Given the description of an element on the screen output the (x, y) to click on. 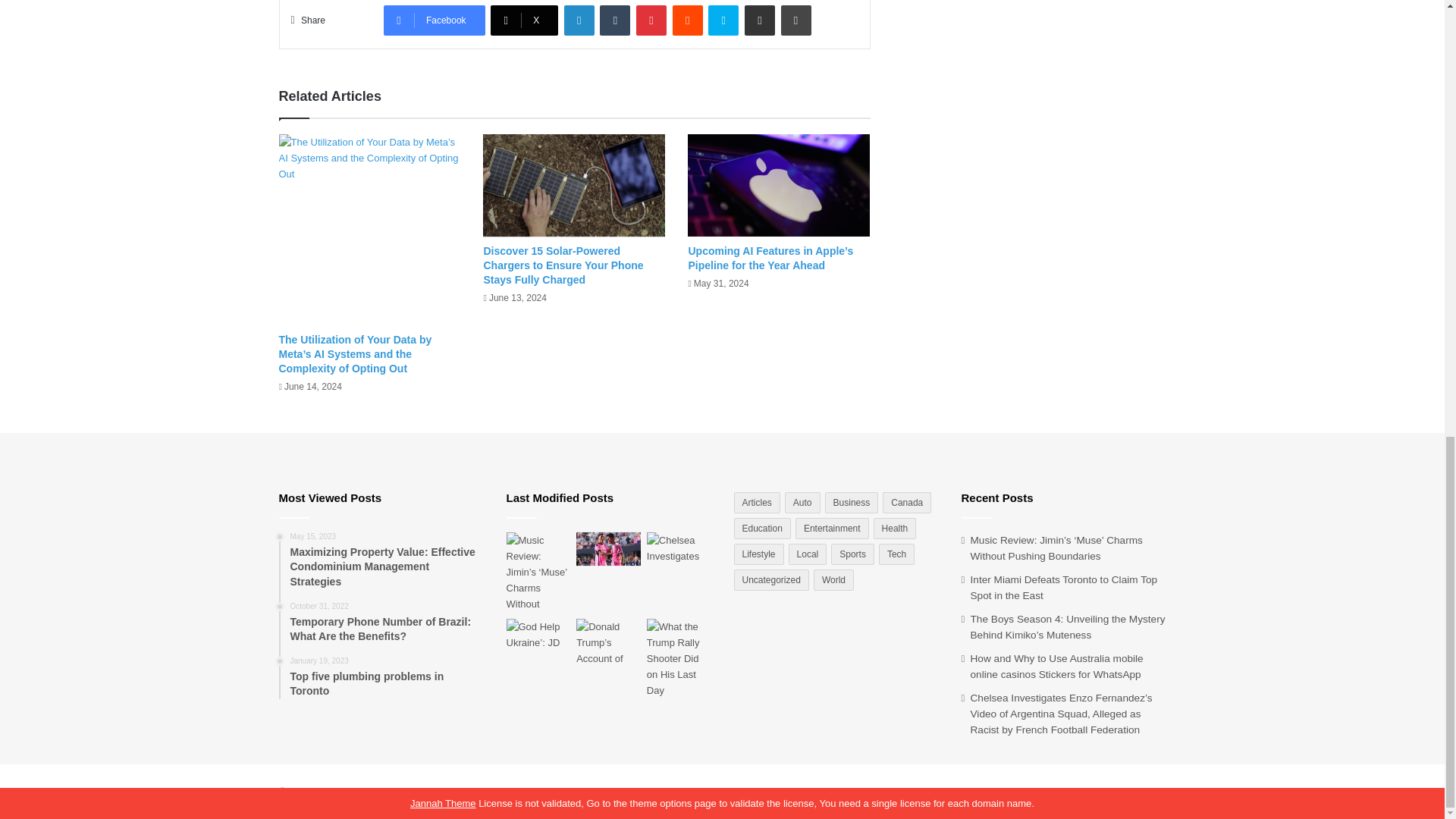
Tumblr (614, 20)
Facebook (434, 20)
LinkedIn (579, 20)
Tumblr (614, 20)
Pinterest (651, 20)
Skype (722, 20)
X (523, 20)
Share via Email (759, 20)
Print (795, 20)
Facebook (434, 20)
Skype (722, 20)
LinkedIn (579, 20)
Pinterest (651, 20)
X (523, 20)
